Given the description of an element on the screen output the (x, y) to click on. 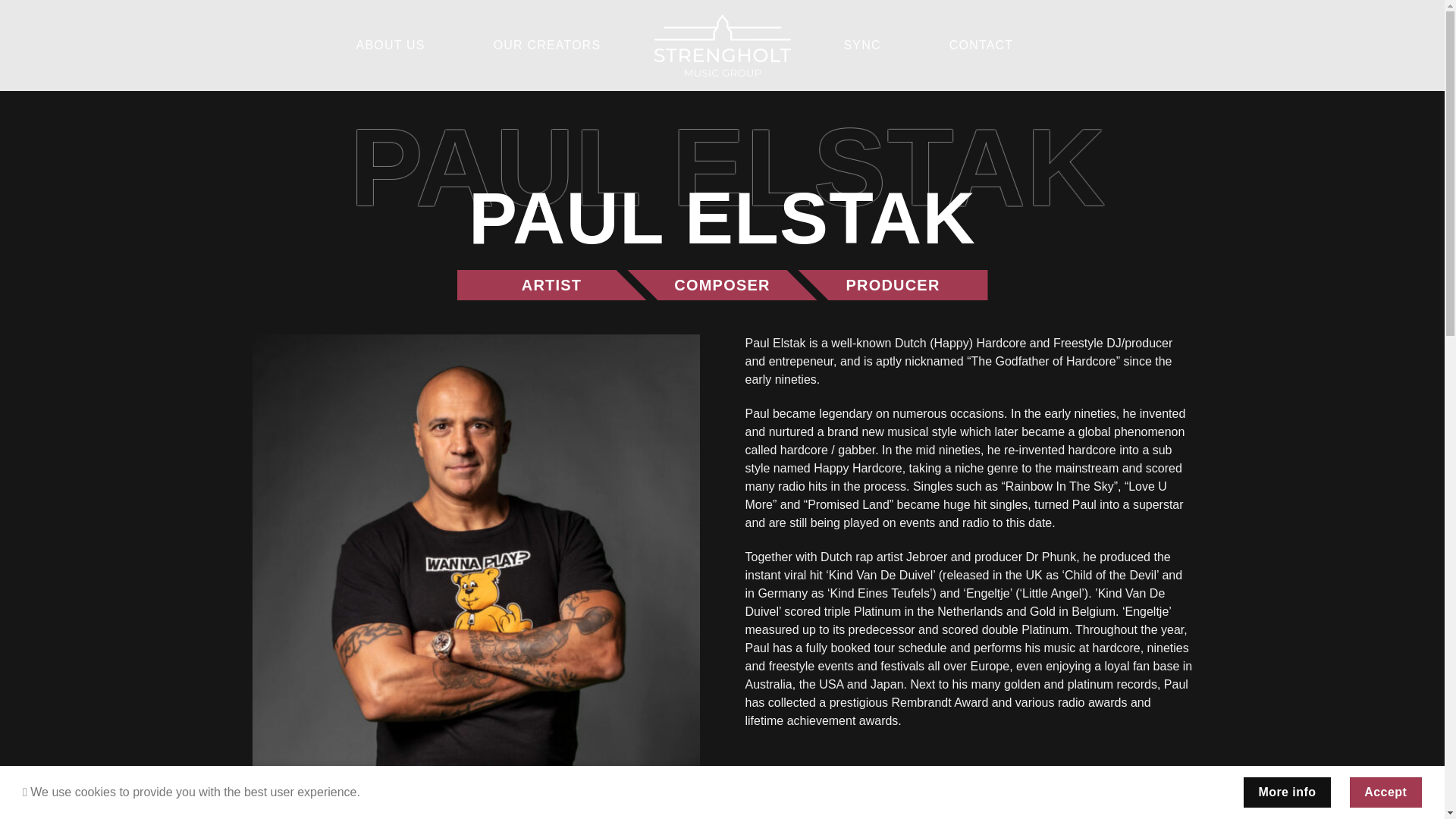
OUR CREATORS (547, 44)
ABOUT US (390, 44)
CONTACT (981, 44)
More info (1286, 792)
Strengholt Music Group - The Independent Music Publisher (721, 45)
SYNC (861, 44)
Accept (1385, 792)
